Given the description of an element on the screen output the (x, y) to click on. 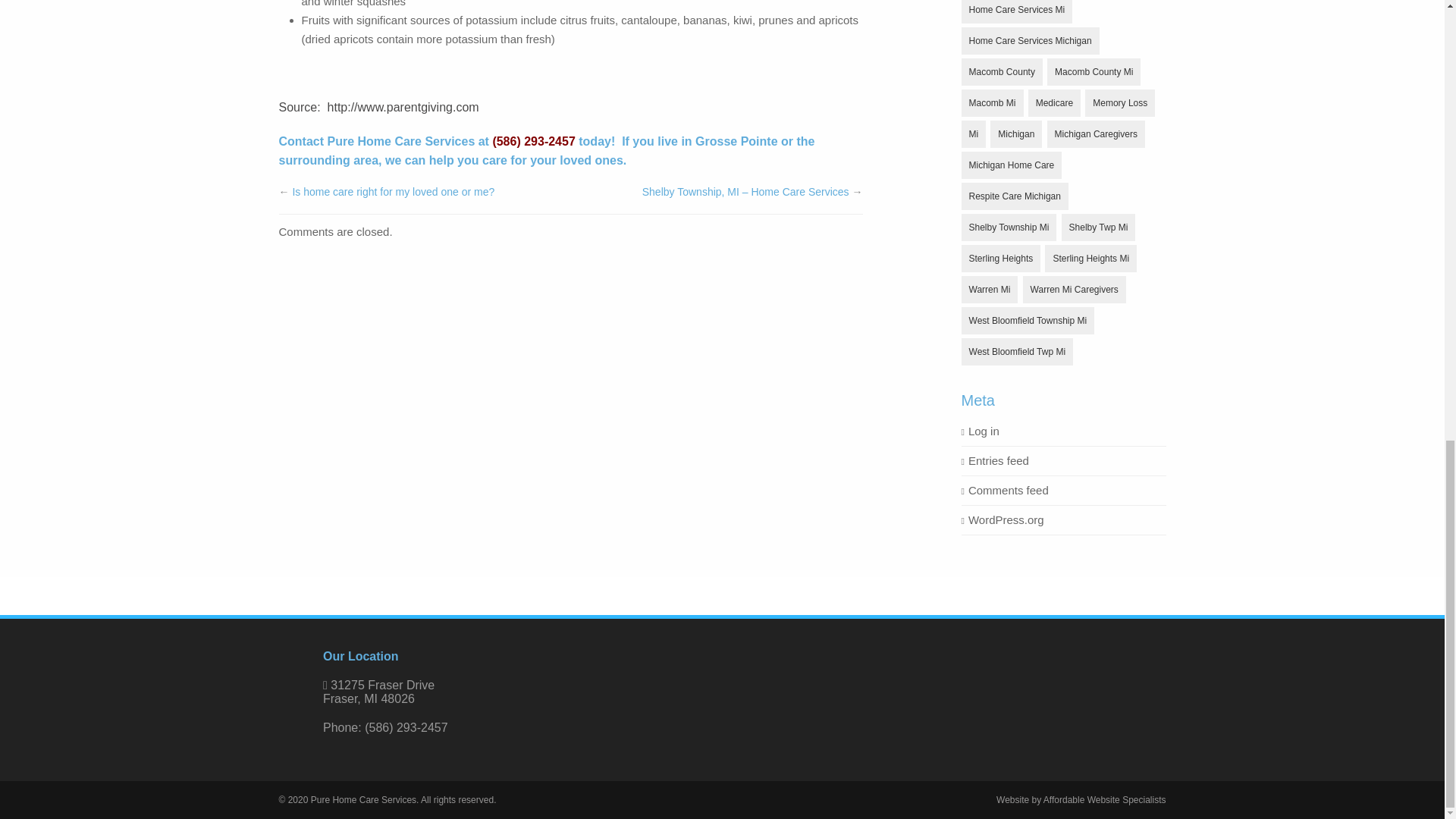
Affordable Website Specialists (1104, 799)
Is home care right for my loved one or me? (393, 191)
